Given the description of an element on the screen output the (x, y) to click on. 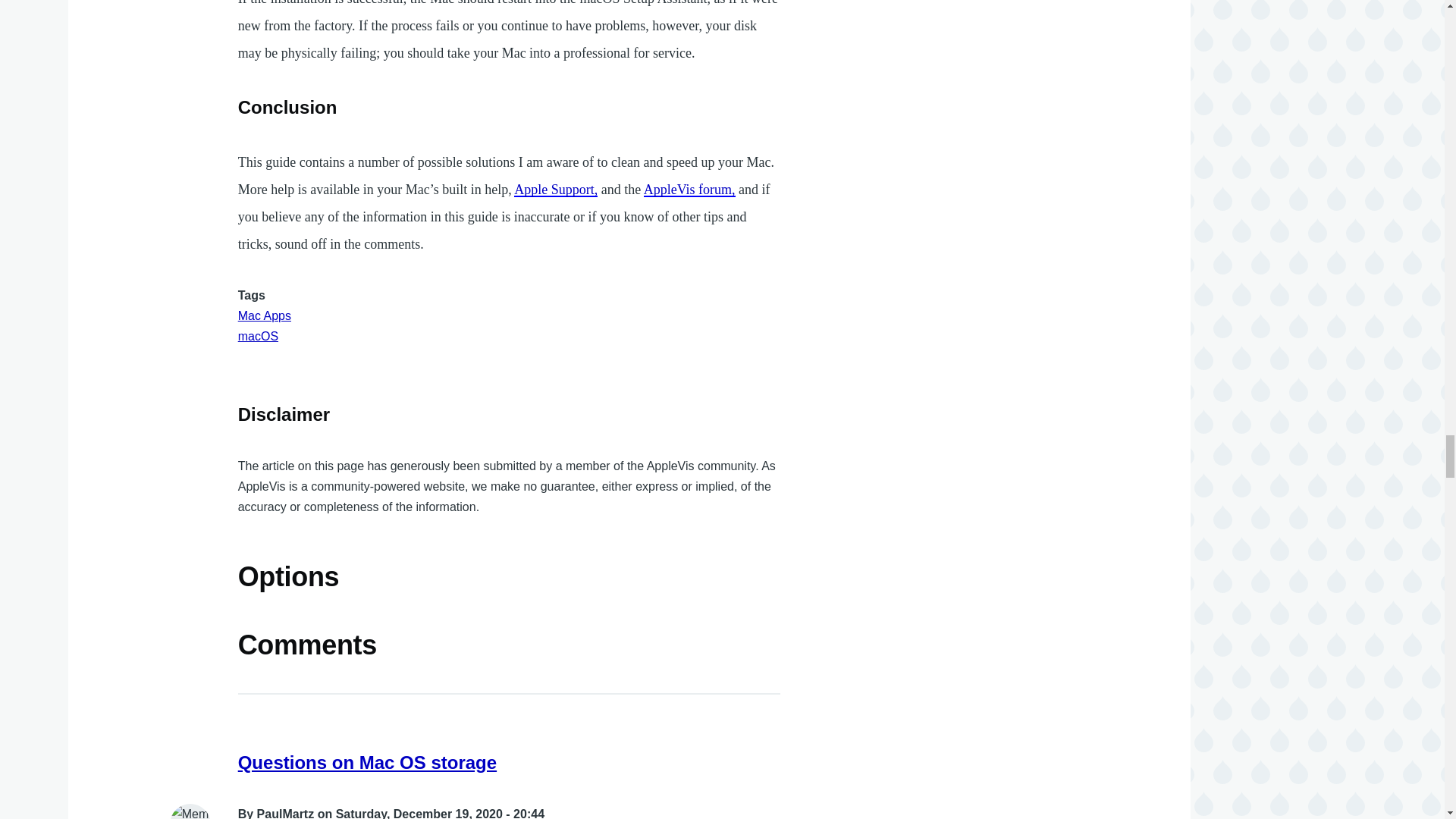
macOS (258, 336)
AppleVis forum, (689, 189)
Apple Support, (554, 189)
Mac Apps (264, 315)
Questions on Mac OS storage (367, 762)
